Given the description of an element on the screen output the (x, y) to click on. 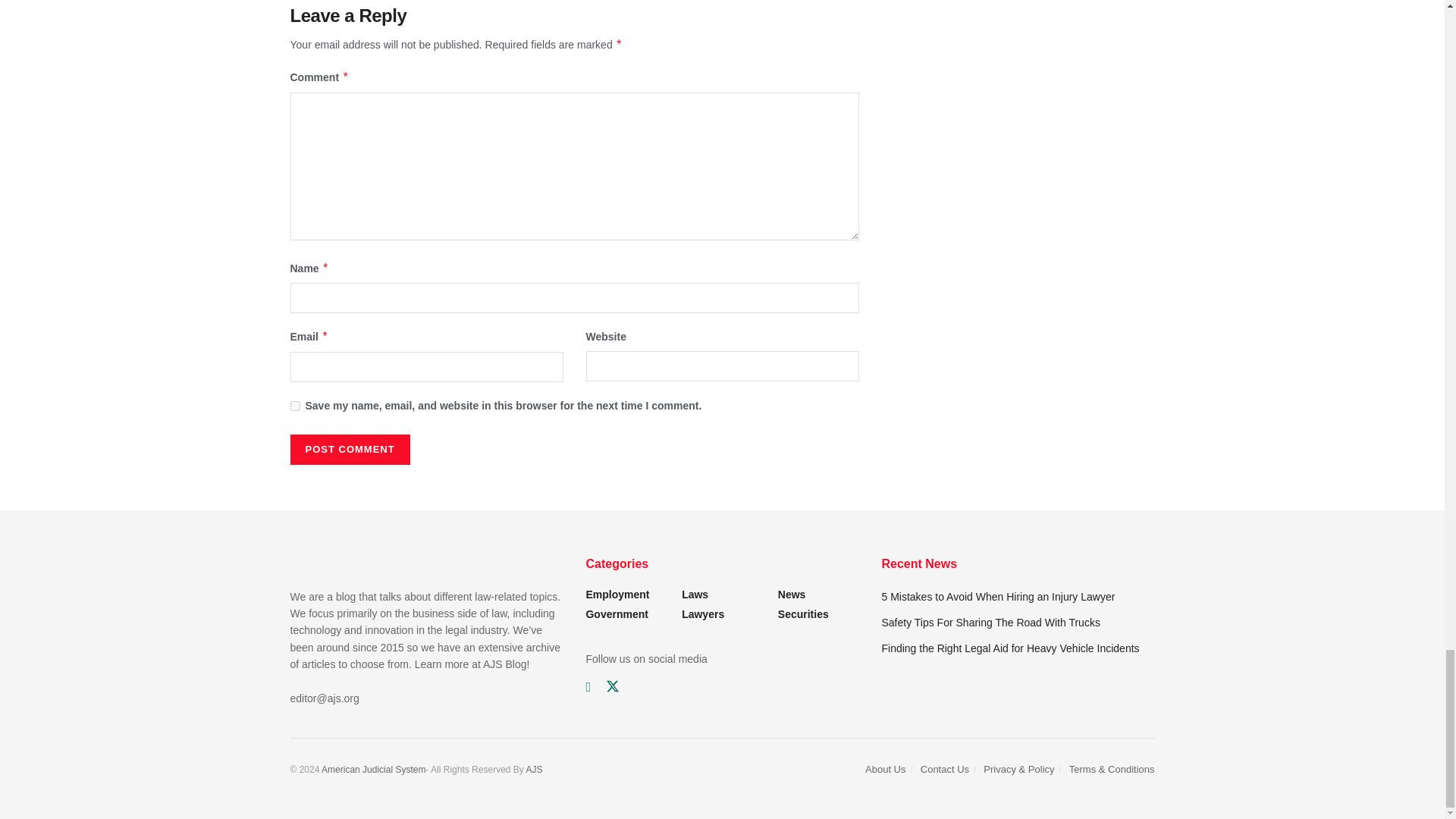
yes (294, 406)
Post Comment (349, 449)
